Given the description of an element on the screen output the (x, y) to click on. 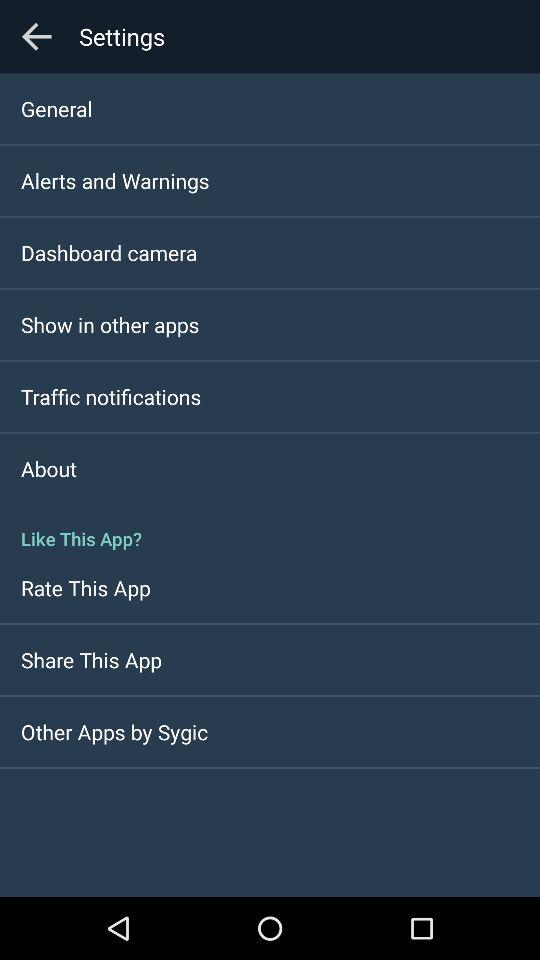
click app above the alerts and warnings icon (56, 108)
